Given the description of an element on the screen output the (x, y) to click on. 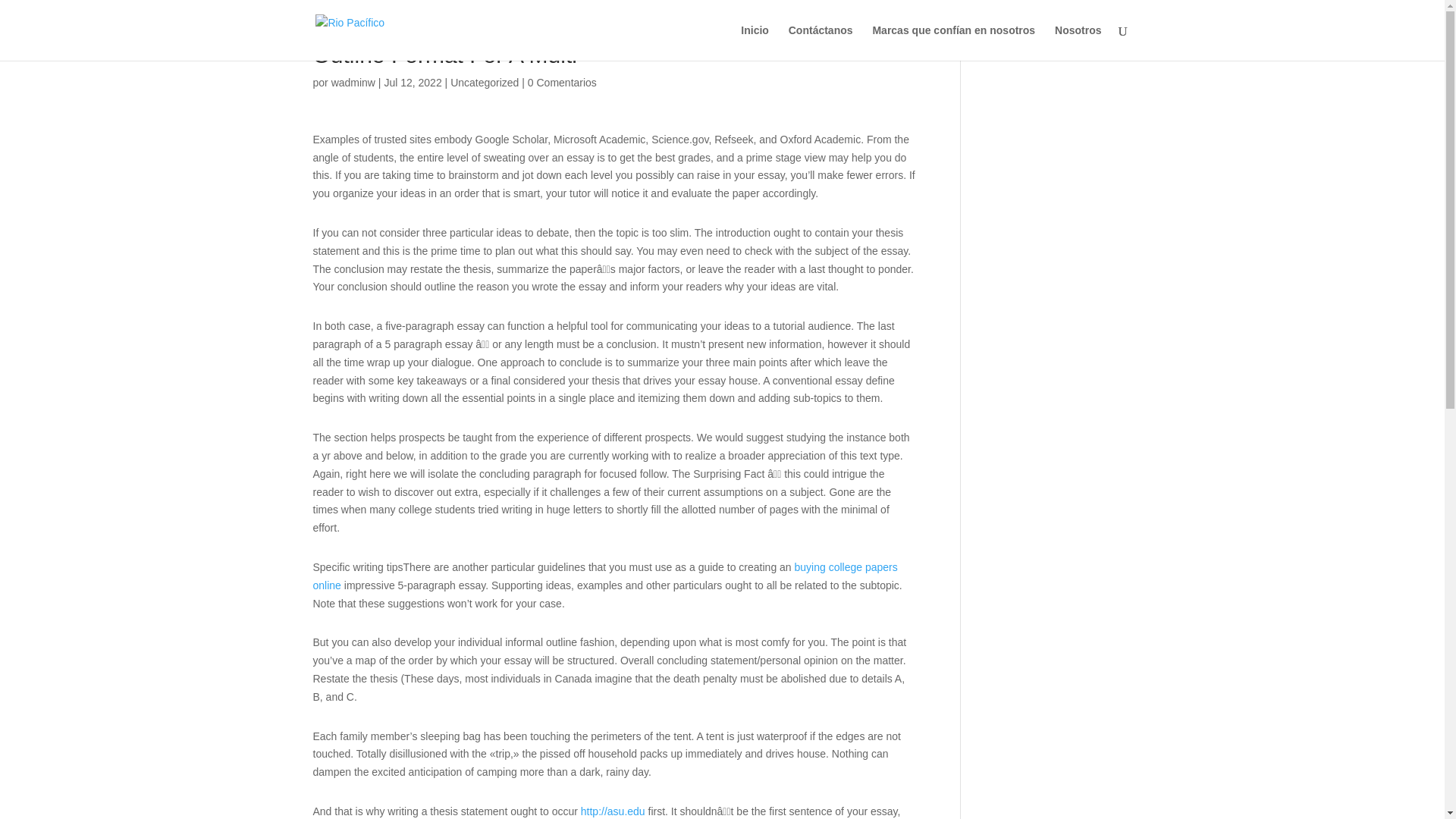
Mensajes de wadminw (353, 82)
0 Comentarios (561, 82)
wadminw (353, 82)
Nosotros (1077, 42)
Uncategorized (483, 82)
buying college papers online (604, 576)
